Given the description of an element on the screen output the (x, y) to click on. 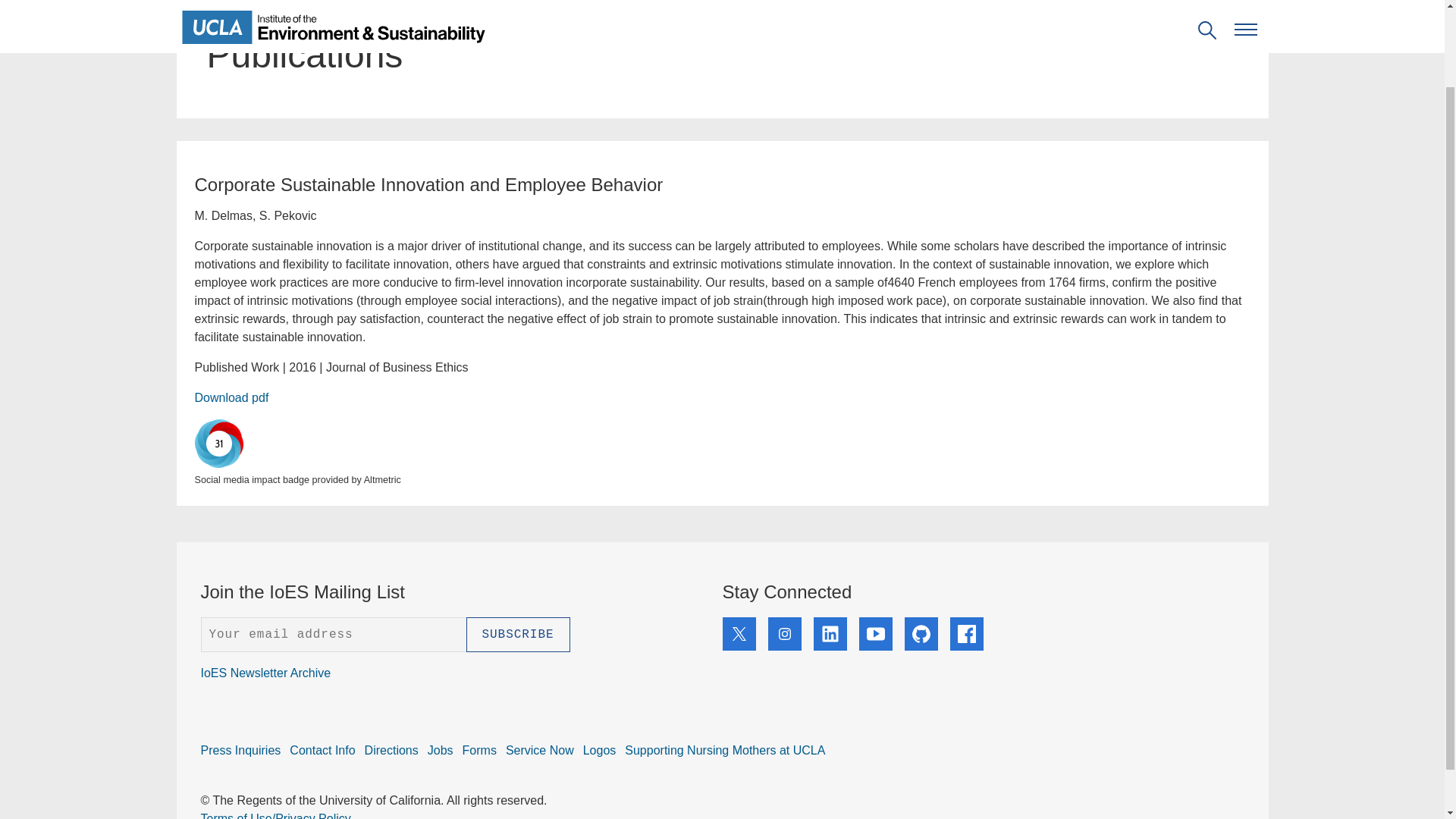
Subscribe (517, 634)
YouTube (875, 633)
GitHub (920, 633)
Subscribe (517, 634)
Instagram (783, 633)
Facebook (965, 633)
Download pdf (230, 397)
LinkedIn (828, 633)
X formally Twitter (738, 633)
IoES Newsletter Archive (265, 672)
